Given the description of an element on the screen output the (x, y) to click on. 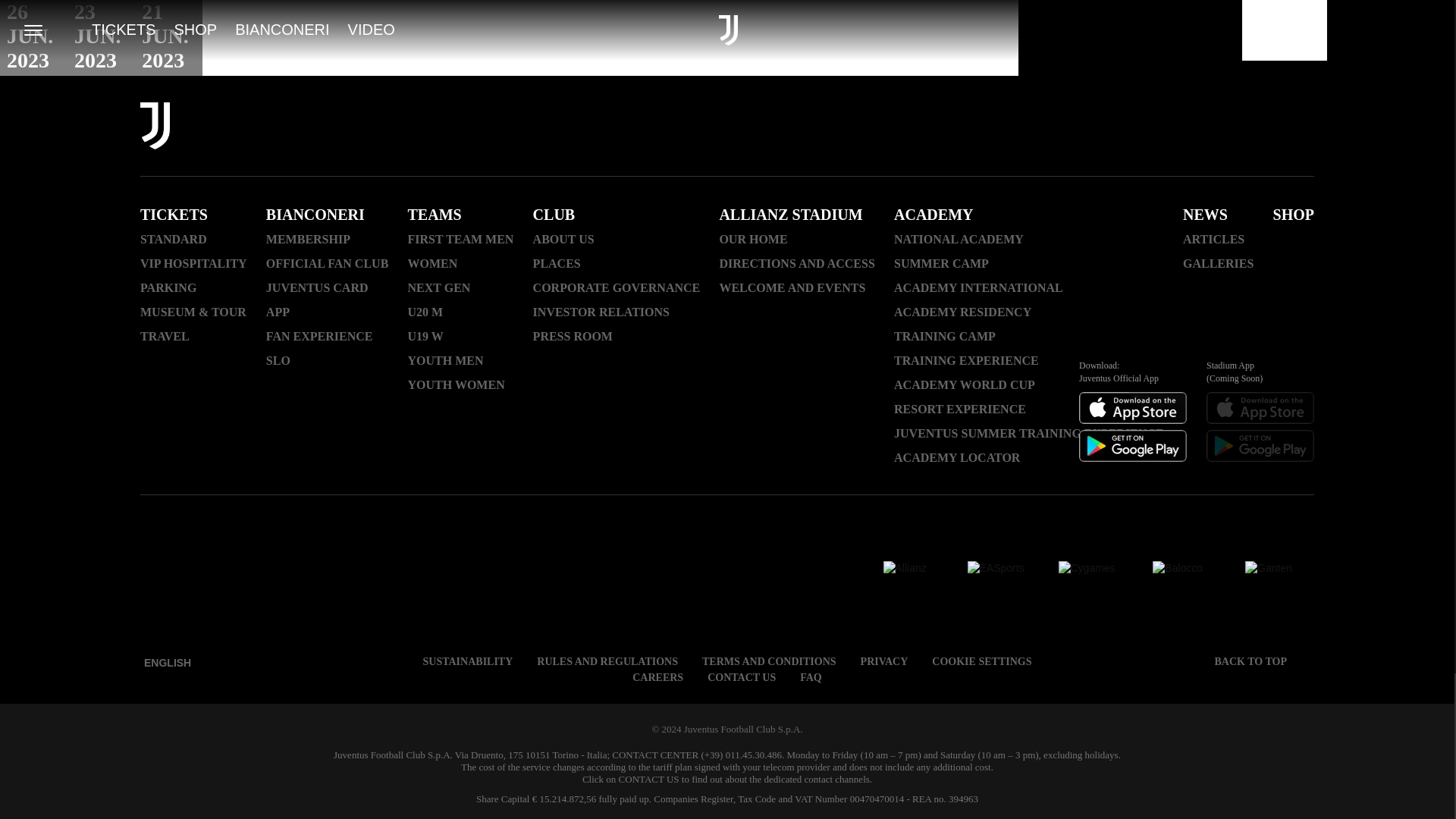
Facebook (1025, 128)
Link To Homepage (154, 127)
Threads (1104, 128)
Instagram (1064, 128)
Youtube (1144, 128)
